Given the description of an element on the screen output the (x, y) to click on. 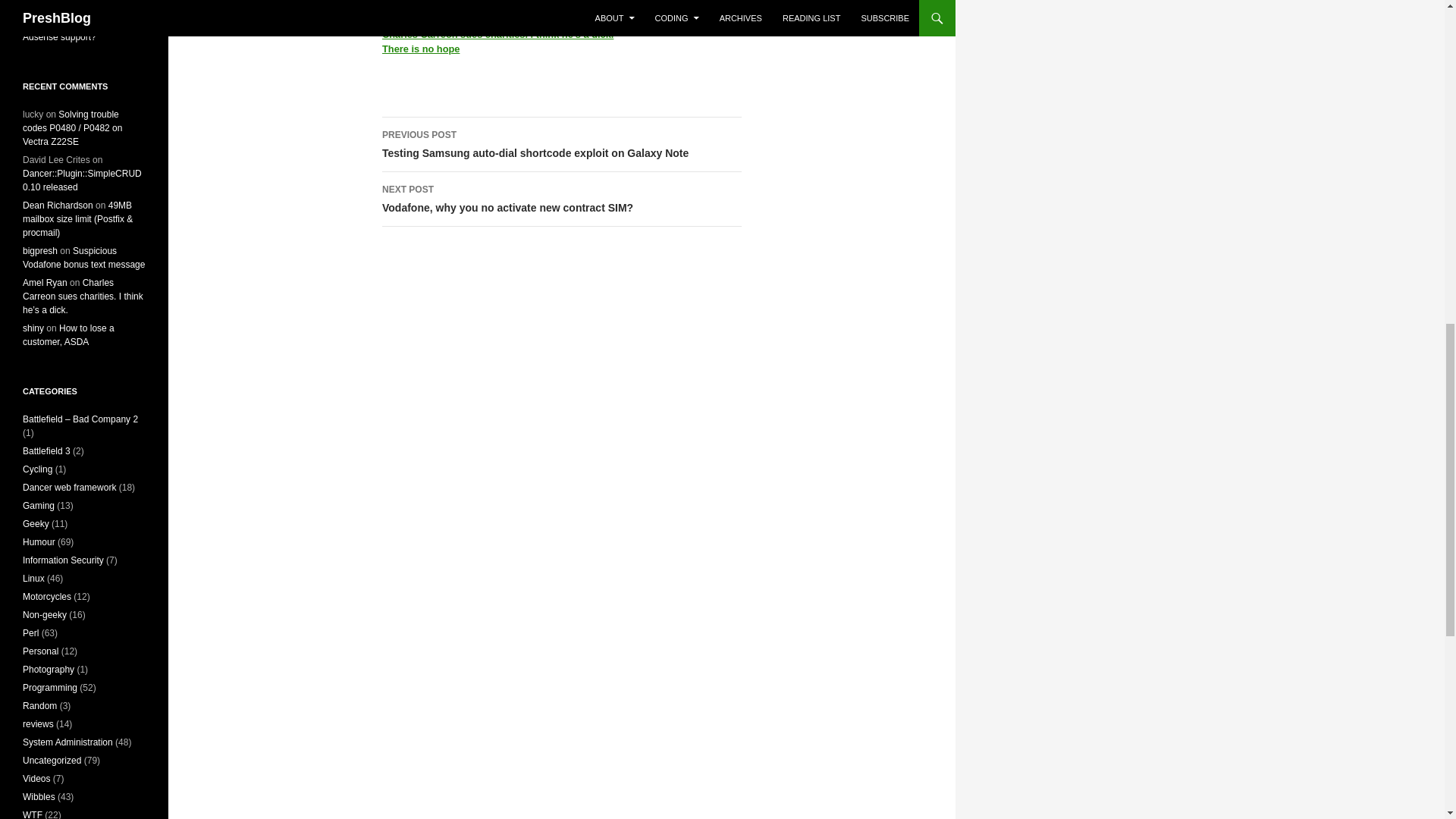
There is no hope (420, 48)
OMG ponies. (561, 198)
Charles Carreon sues charities. I think he's a dick. (411, 19)
Whining entitlementism (496, 34)
